Given the description of an element on the screen output the (x, y) to click on. 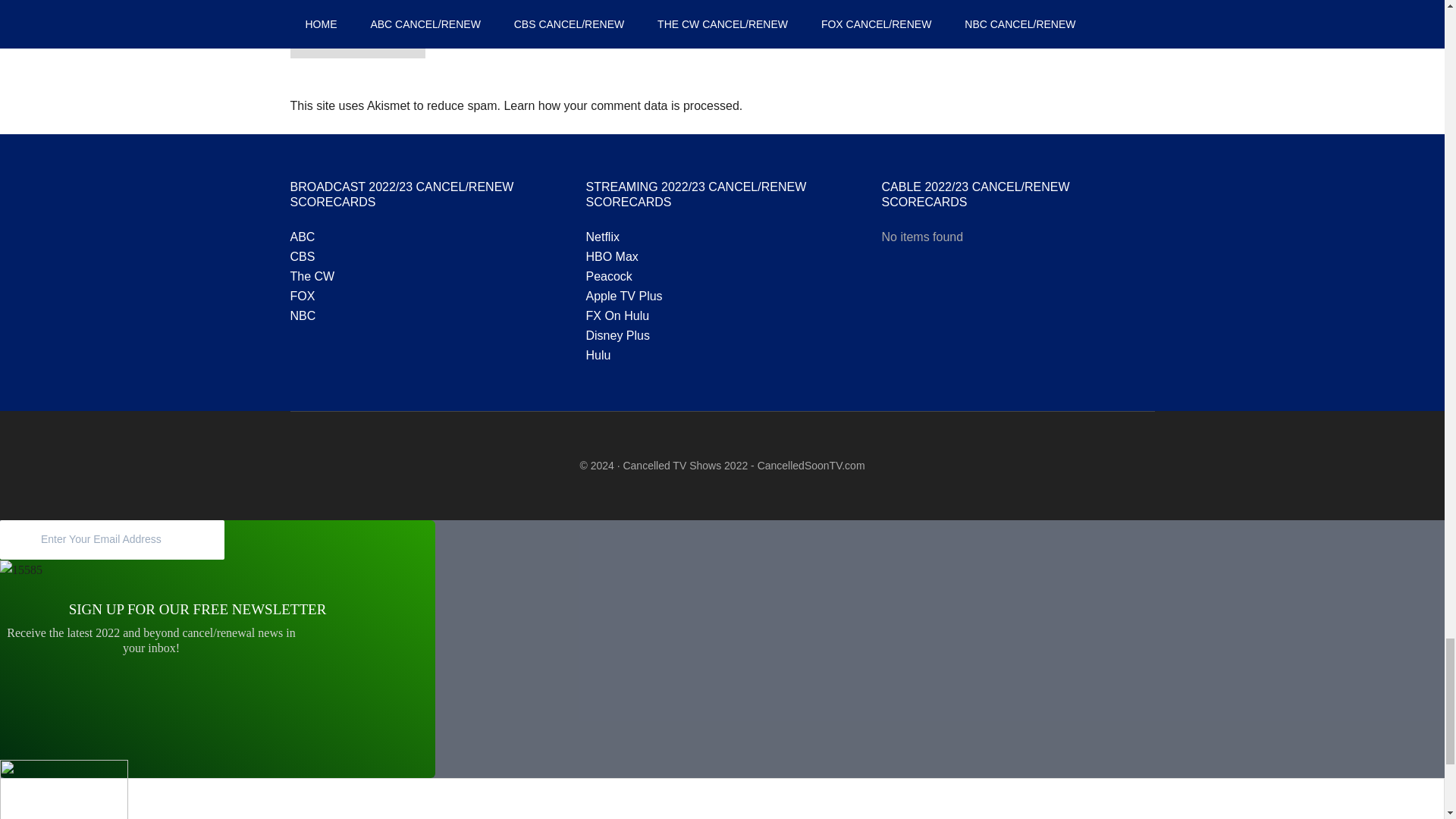
Post Comment (357, 36)
Post Comment (357, 36)
Learn how your comment data is processed (620, 105)
